Given the description of an element on the screen output the (x, y) to click on. 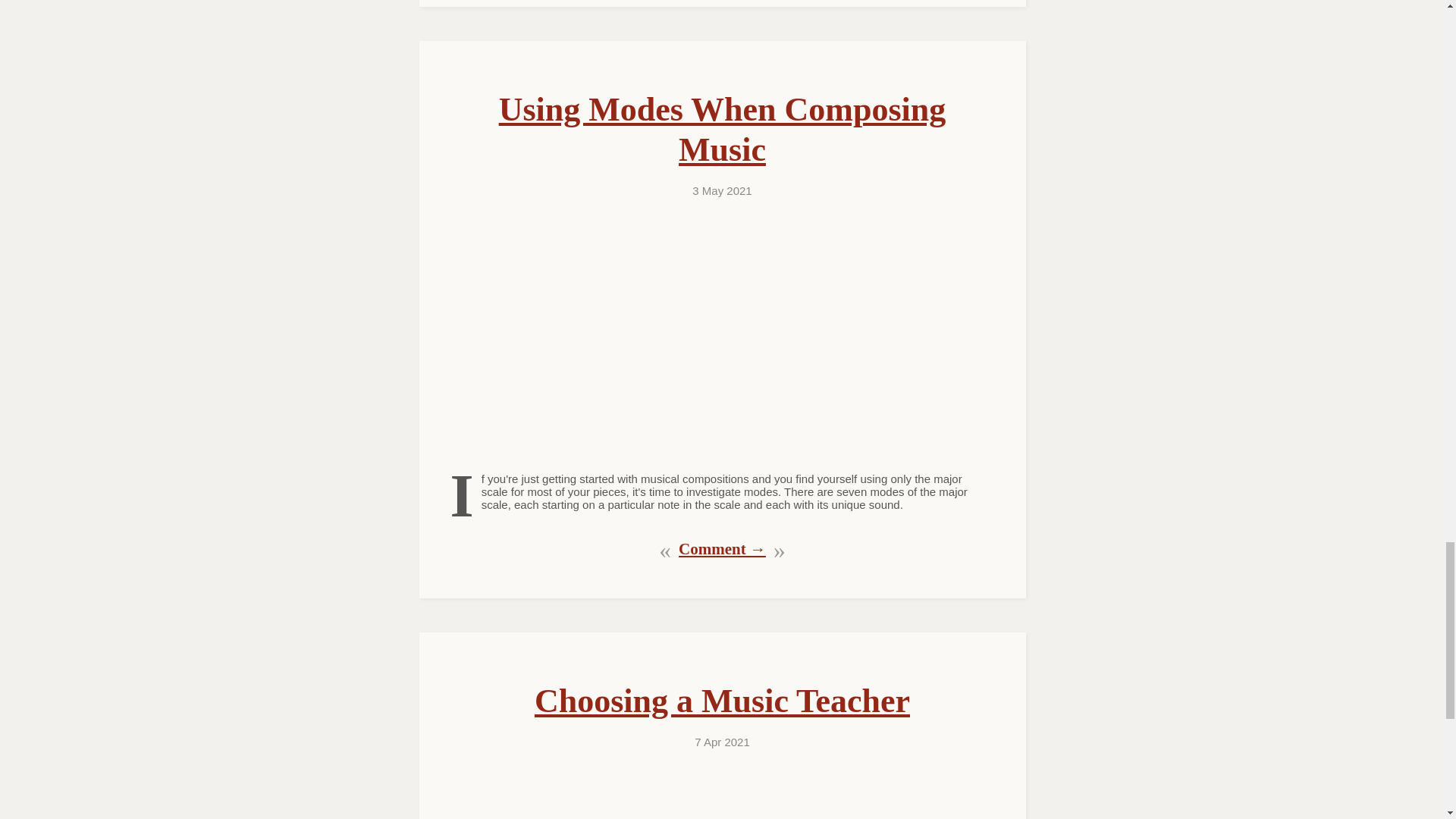
Using Modes When Composing Music (722, 129)
Choosing a Music Teacher (722, 700)
